Given the description of an element on the screen output the (x, y) to click on. 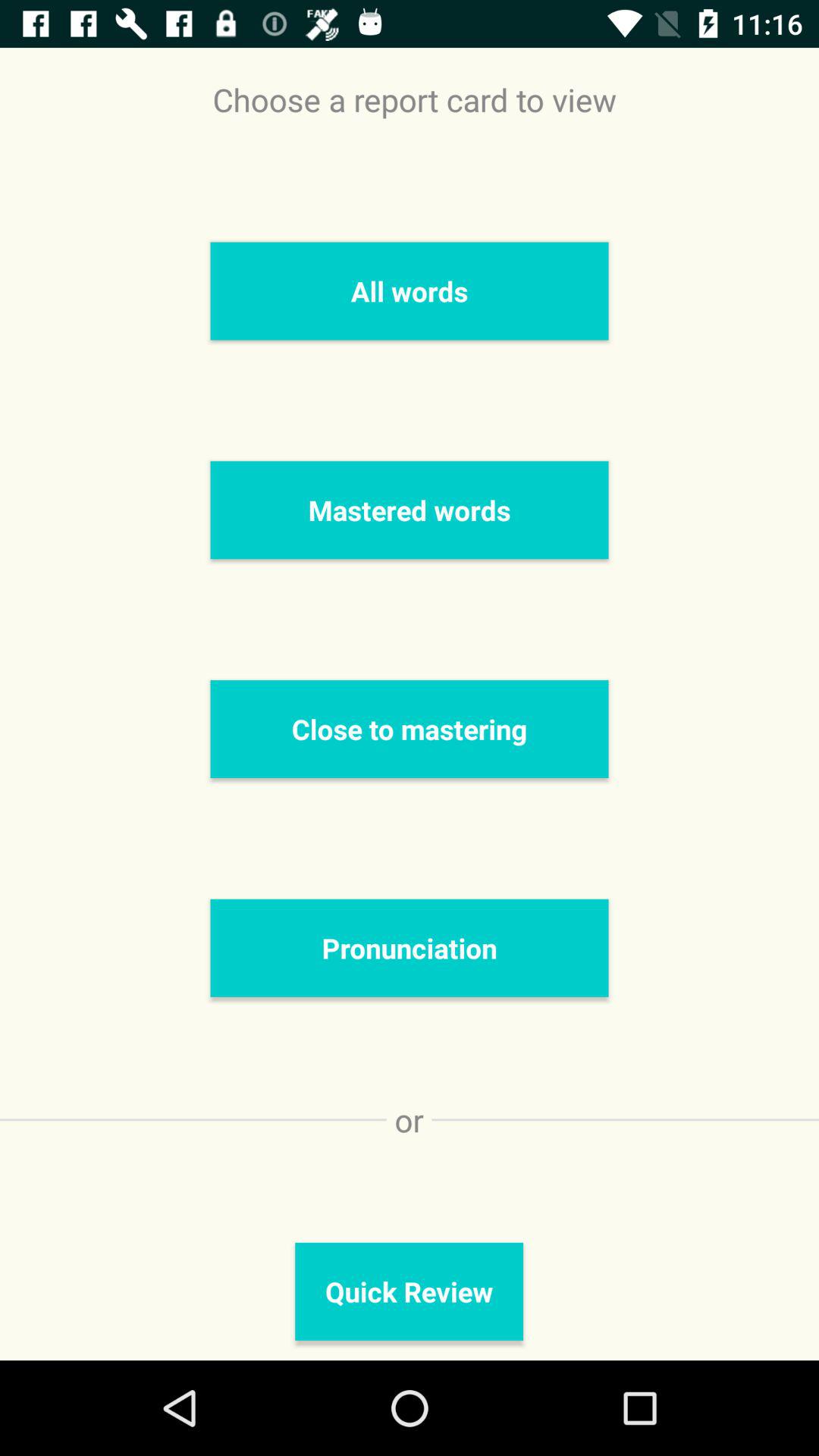
swipe until pronunciation icon (409, 948)
